Given the description of an element on the screen output the (x, y) to click on. 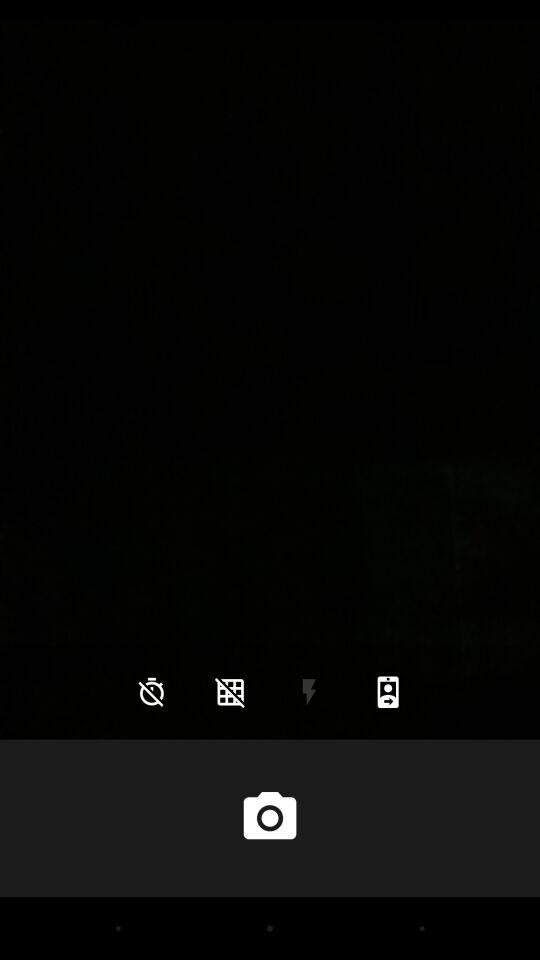
press icon at the bottom right corner (387, 691)
